Given the description of an element on the screen output the (x, y) to click on. 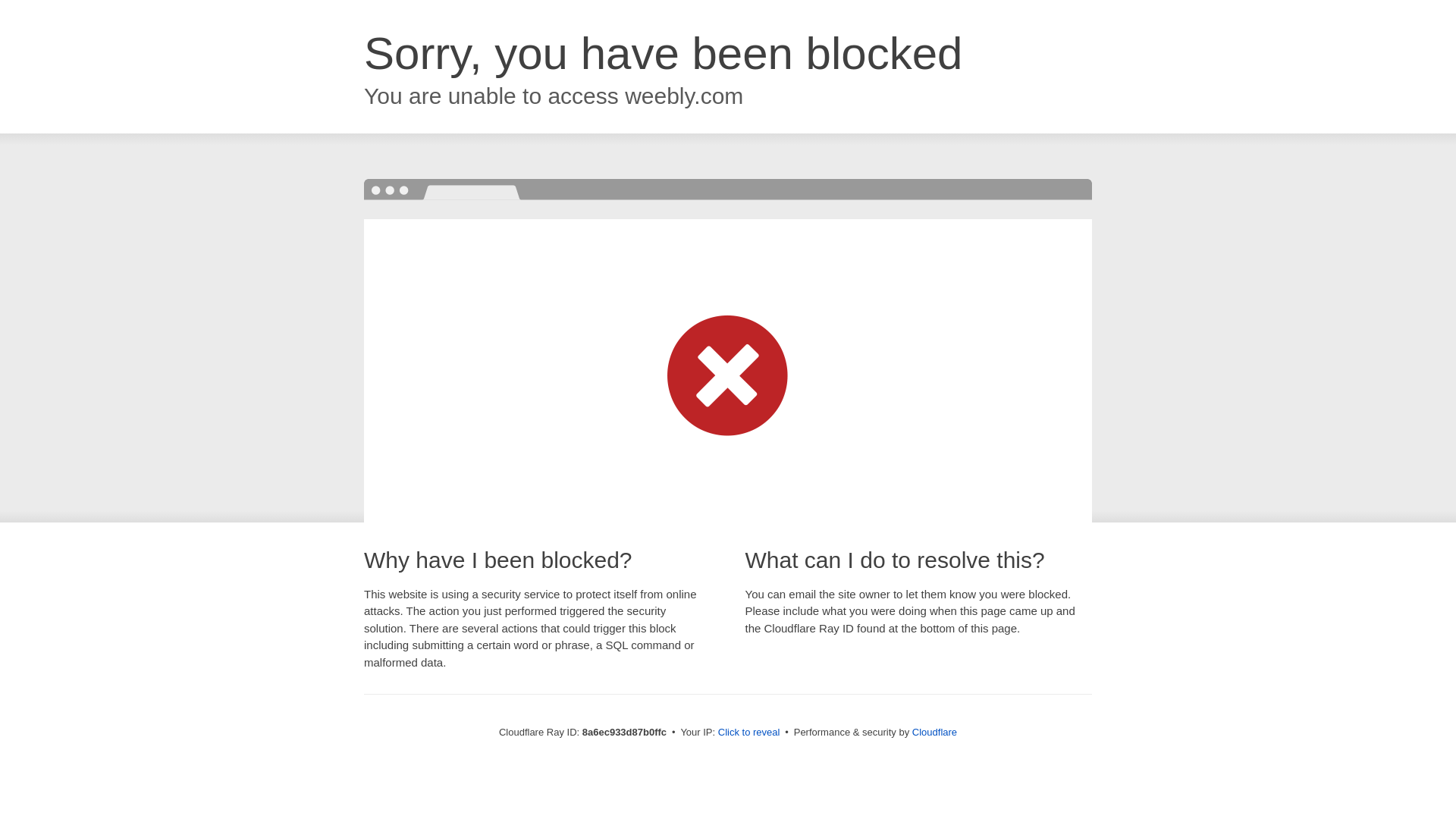
Click to reveal (748, 732)
Cloudflare (934, 731)
